Given the description of an element on the screen output the (x, y) to click on. 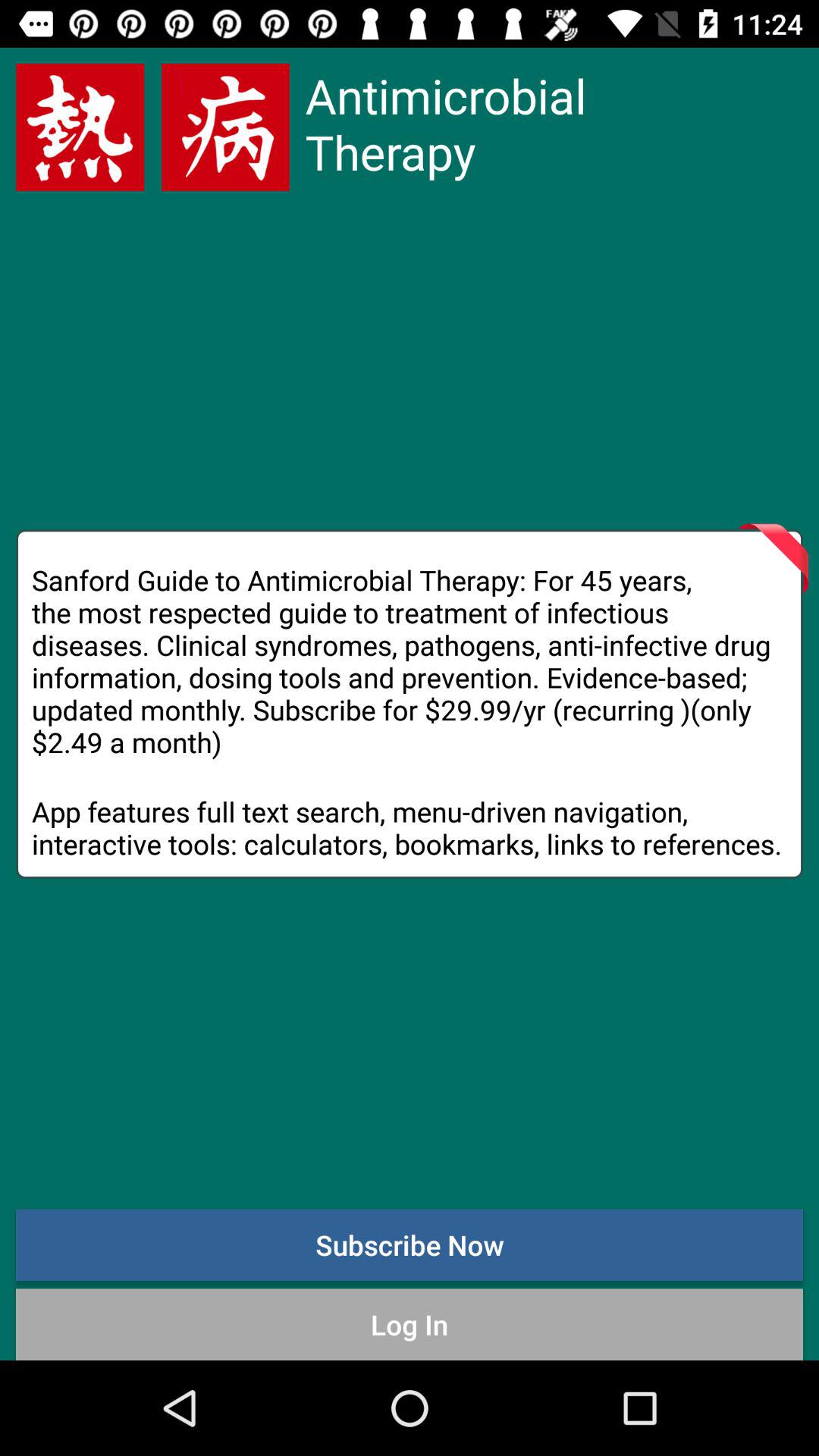
choose the icon above the log in icon (409, 1244)
